Given the description of an element on the screen output the (x, y) to click on. 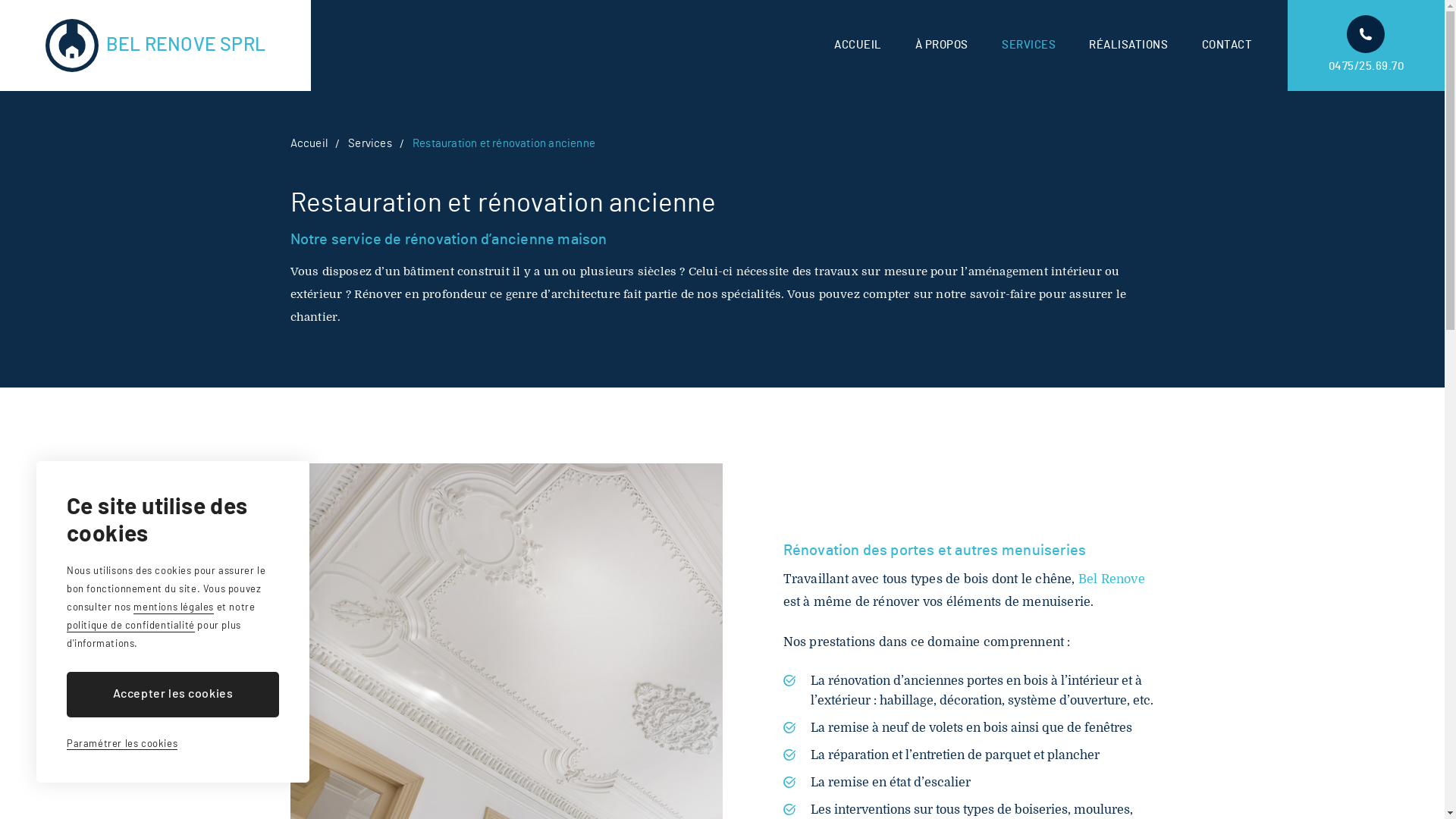
0475/25.69.70 Element type: text (1366, 45)
ACCUEIL Element type: text (857, 45)
Accueil Element type: text (307, 143)
CONTACT Element type: text (1226, 45)
BEL RENOVE SPRL Element type: text (155, 45)
Bel Renove Element type: text (1111, 579)
SERVICES Element type: text (1028, 45)
Services Element type: text (370, 143)
